Given the description of an element on the screen output the (x, y) to click on. 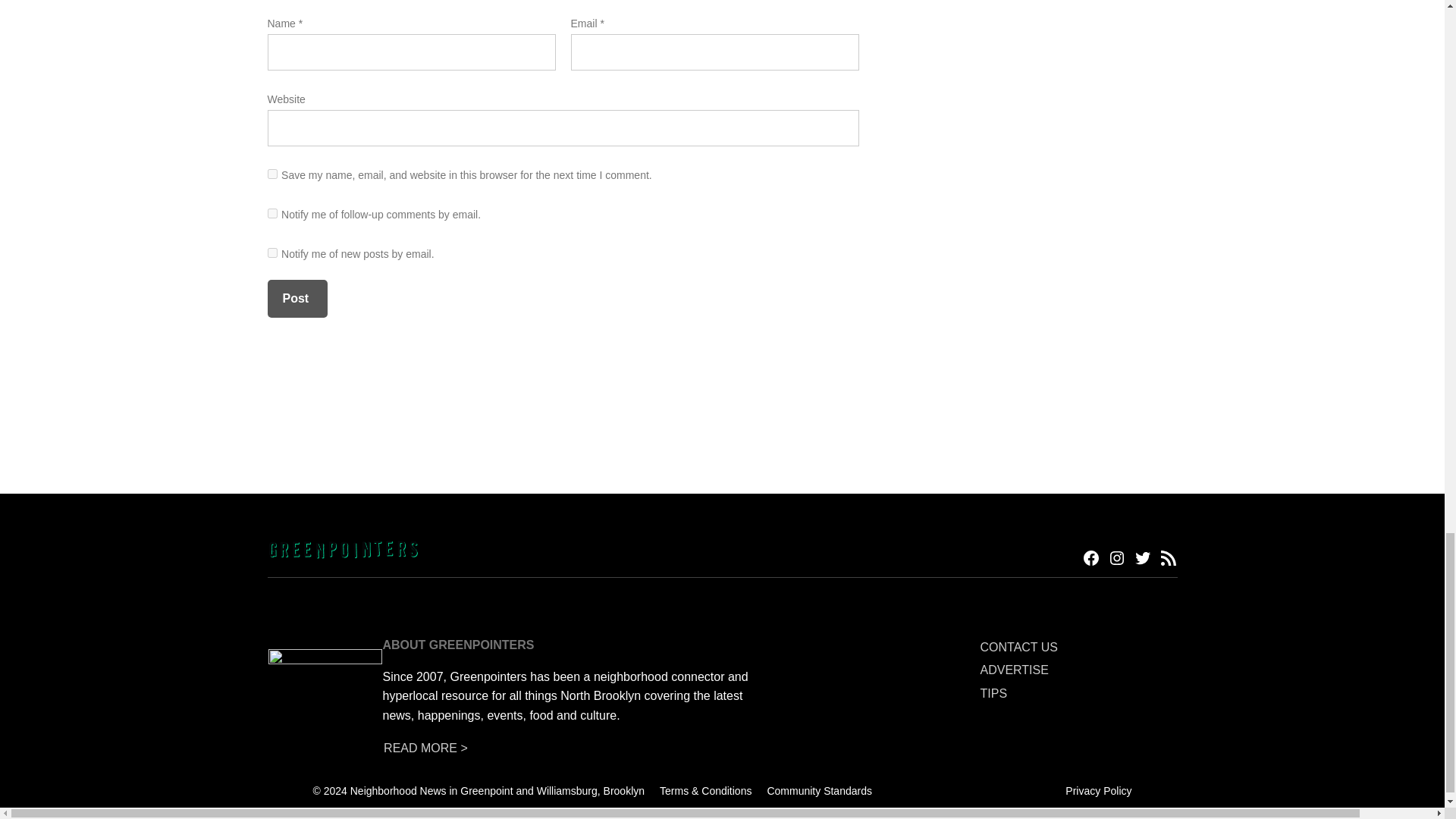
subscribe (271, 252)
subscribe (271, 213)
yes (271, 173)
Post  (296, 298)
